Given the description of an element on the screen output the (x, y) to click on. 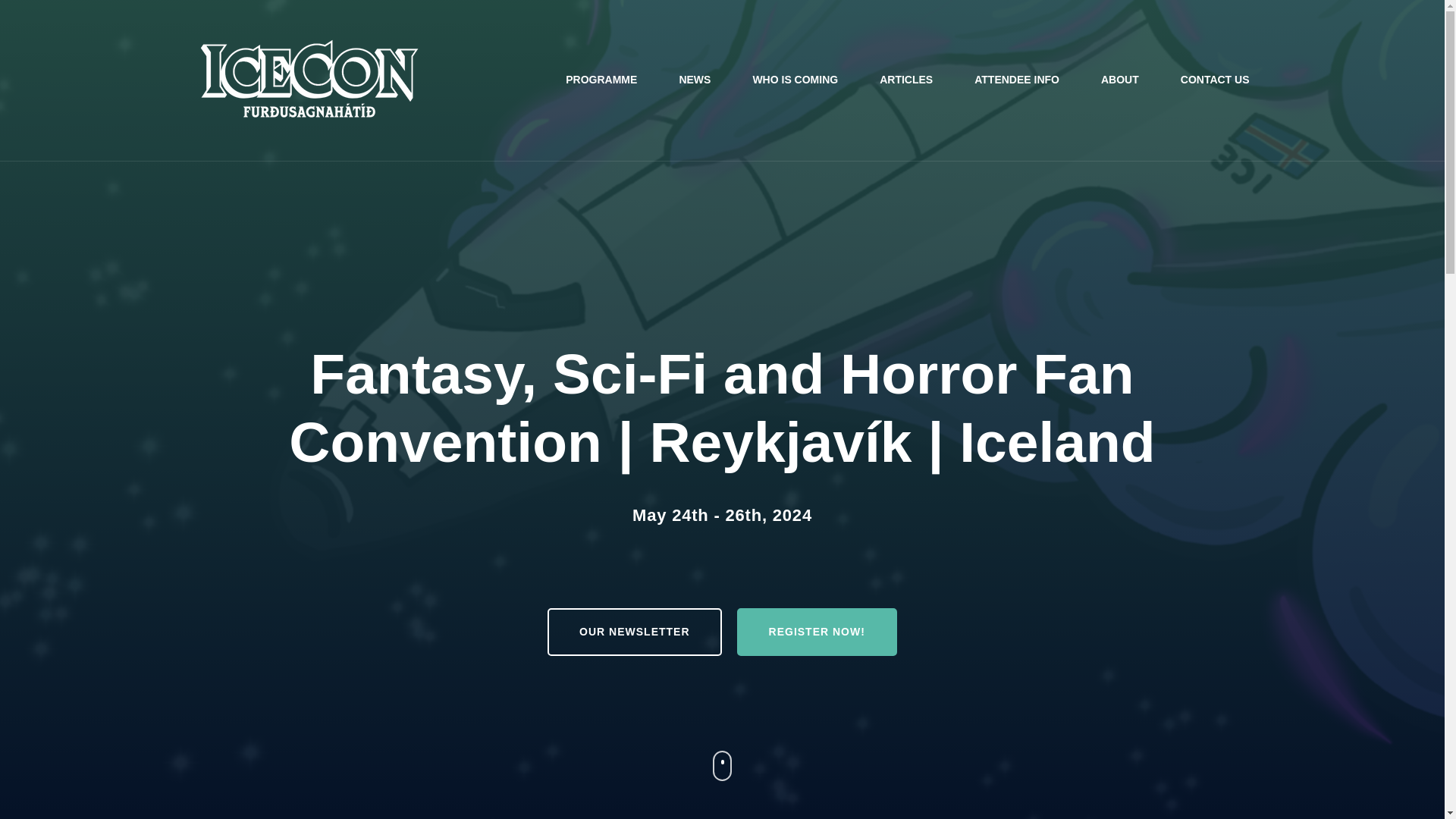
ATTENDEE INFO (1016, 79)
ARTICLES (906, 79)
WHO IS COMING (795, 79)
NEWS (694, 79)
PROGRAMME (601, 79)
